Given the description of an element on the screen output the (x, y) to click on. 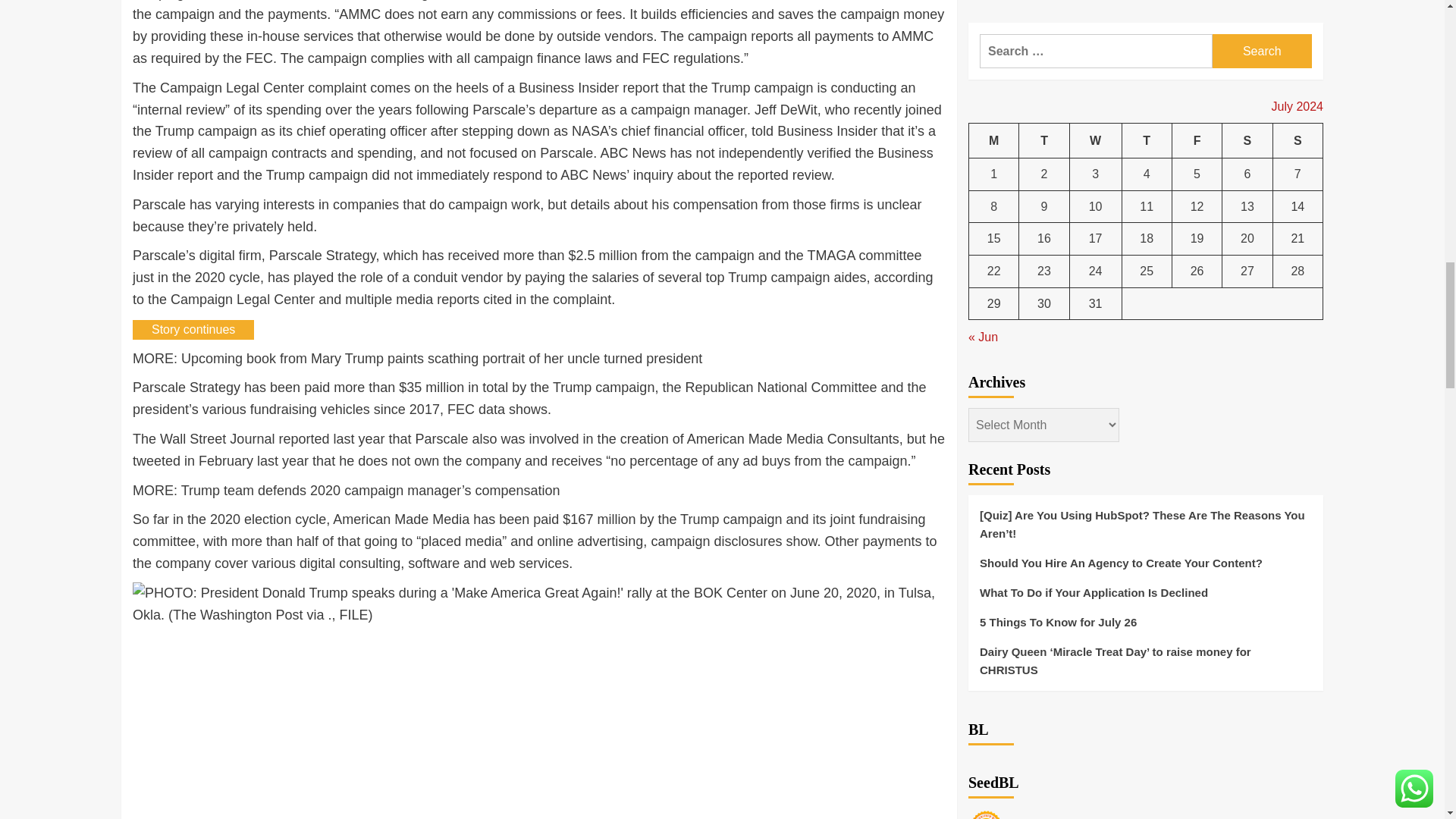
Story continues (192, 329)
